Given the description of an element on the screen output the (x, y) to click on. 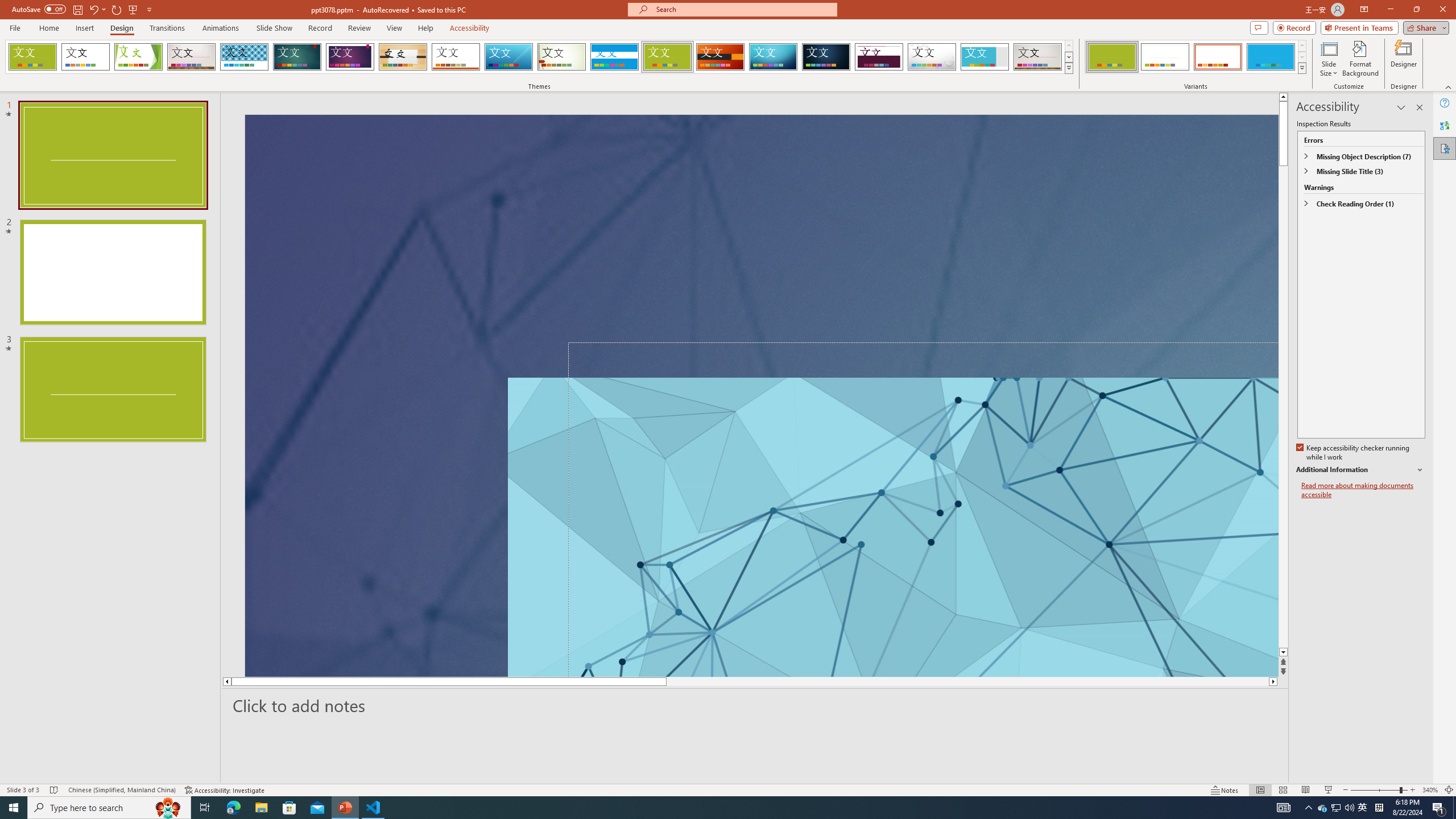
Slide Size (1328, 58)
Slide Notes (755, 705)
Basis Variant 1 (1112, 56)
Page down (1283, 406)
Organic (403, 56)
An abstract genetic concept (761, 395)
Additional Information (1360, 469)
